Given the description of an element on the screen output the (x, y) to click on. 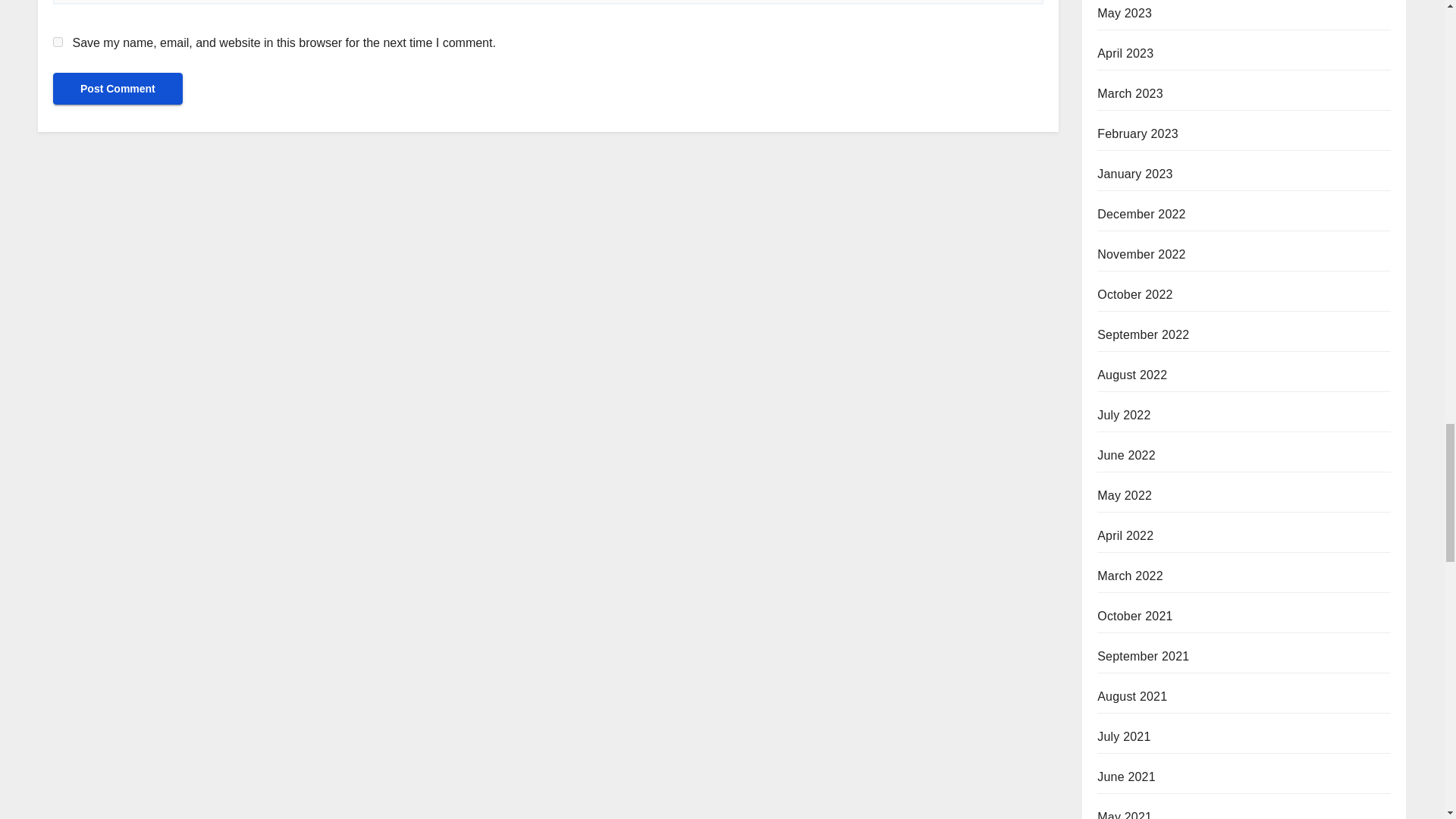
Post Comment (117, 88)
yes (57, 41)
